Given the description of an element on the screen output the (x, y) to click on. 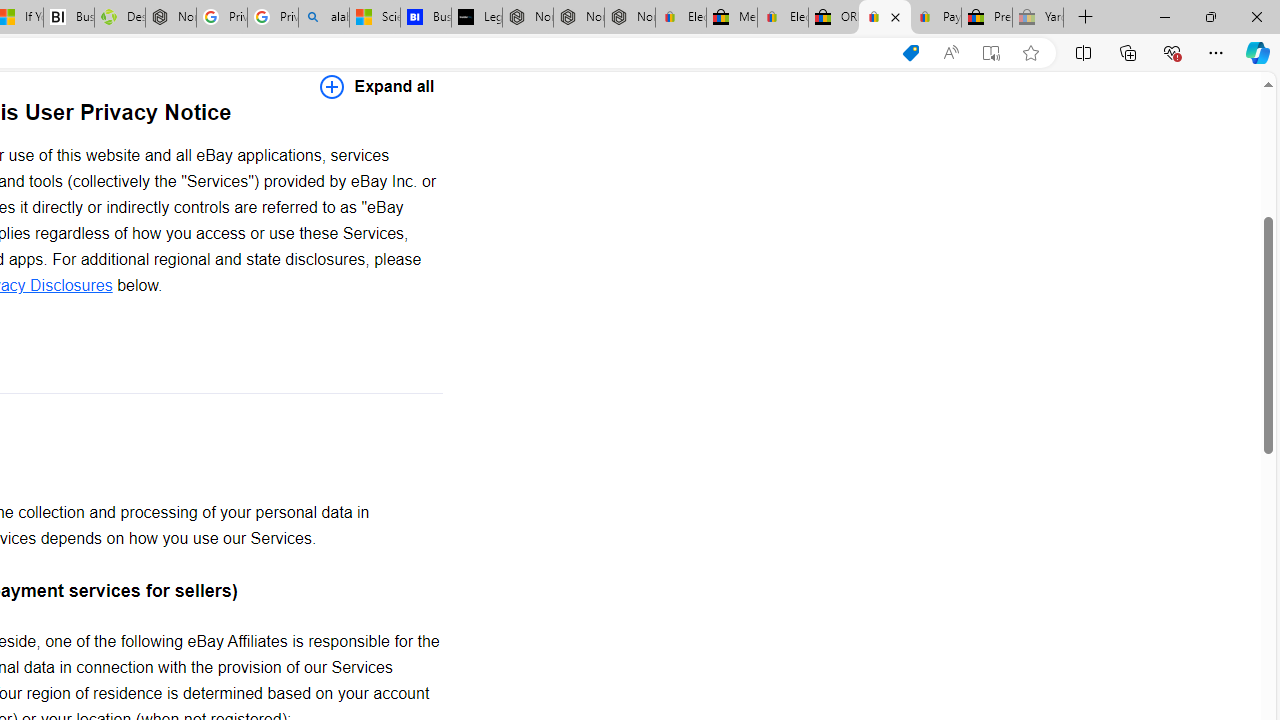
Nordace - My Account (170, 17)
Descarga Driver Updater (119, 17)
Payments Terms of Use | eBay.com (936, 17)
Press Room - eBay Inc. (987, 17)
